Given the description of an element on the screen output the (x, y) to click on. 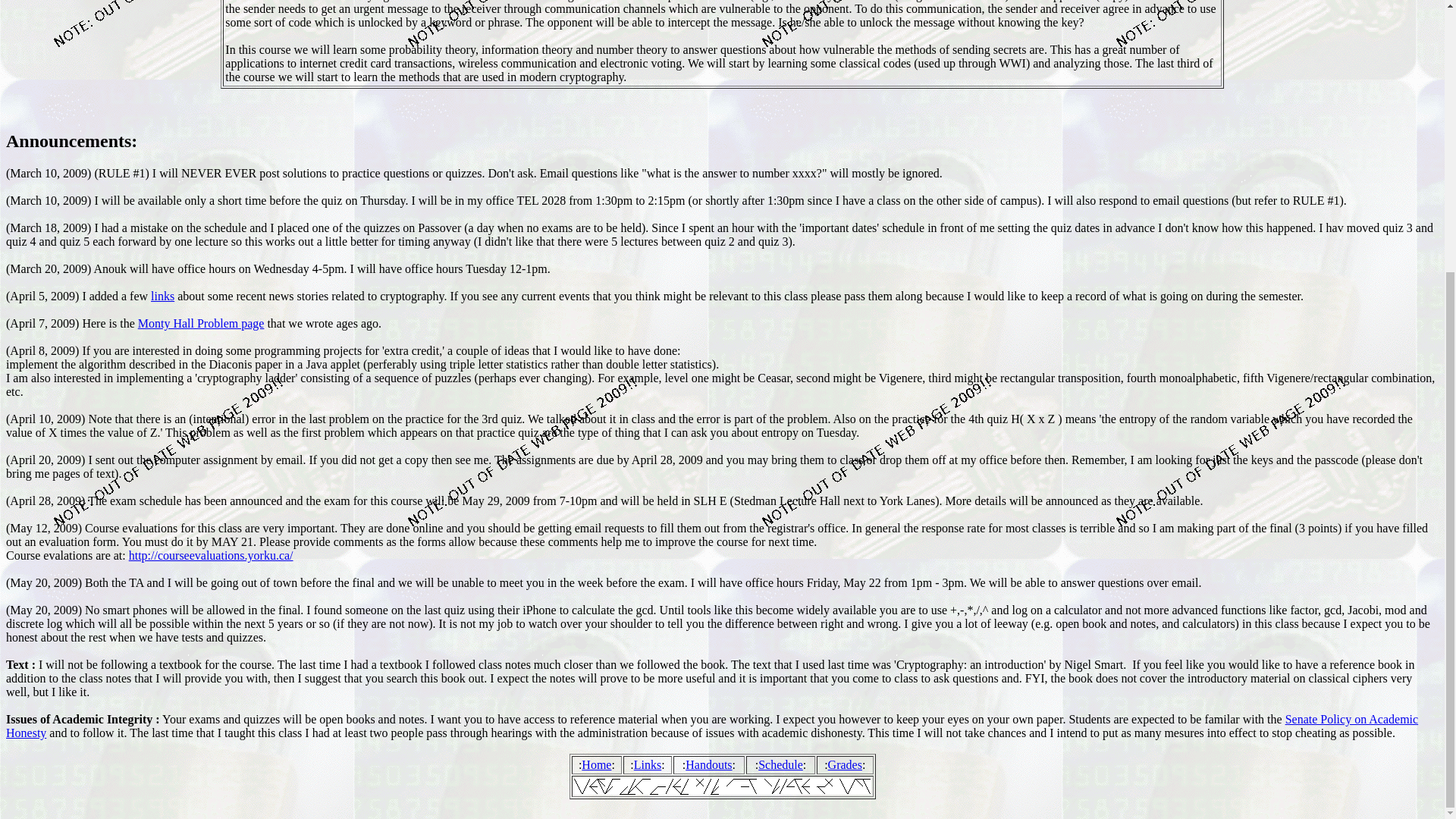
Handouts (708, 764)
Senate Policy on Academic Honesty (711, 725)
Monty Hall Problem page (201, 323)
Home (595, 764)
Grades (844, 764)
links (162, 295)
Schedule (780, 764)
Links (647, 764)
